Given the description of an element on the screen output the (x, y) to click on. 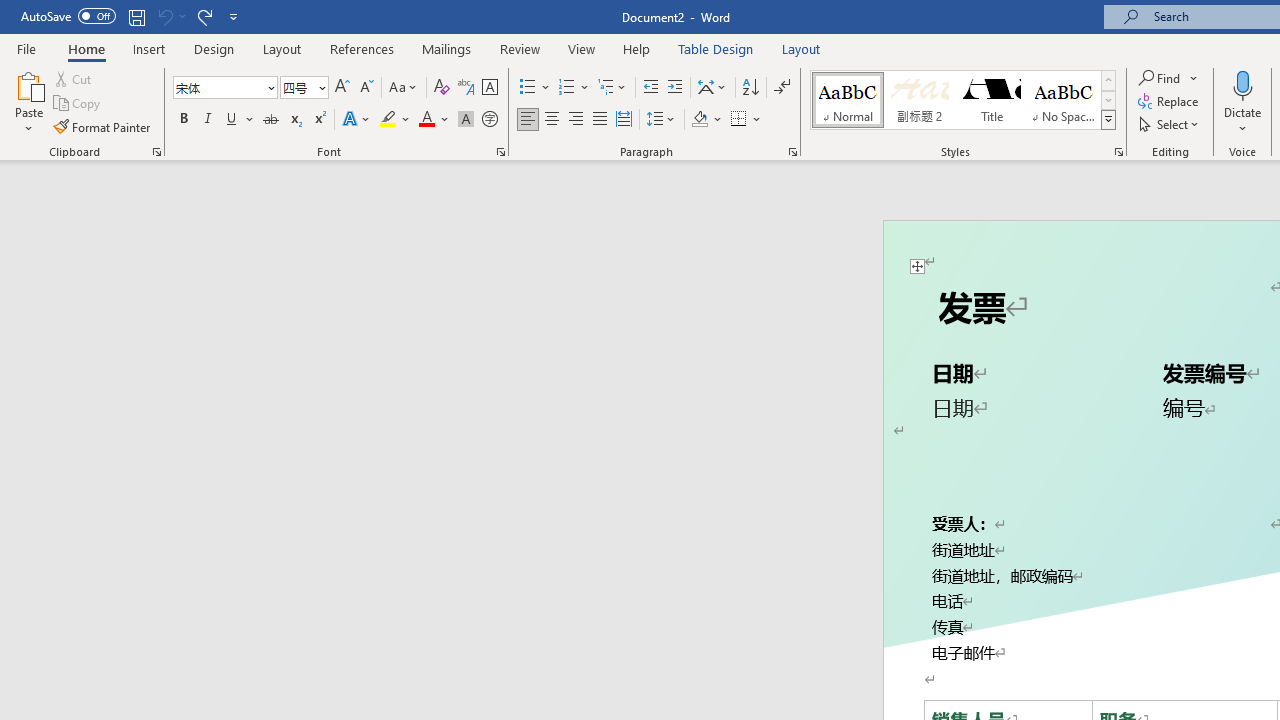
Redo Text Fill Effect (204, 15)
Can't Undo (170, 15)
